Given the description of an element on the screen output the (x, y) to click on. 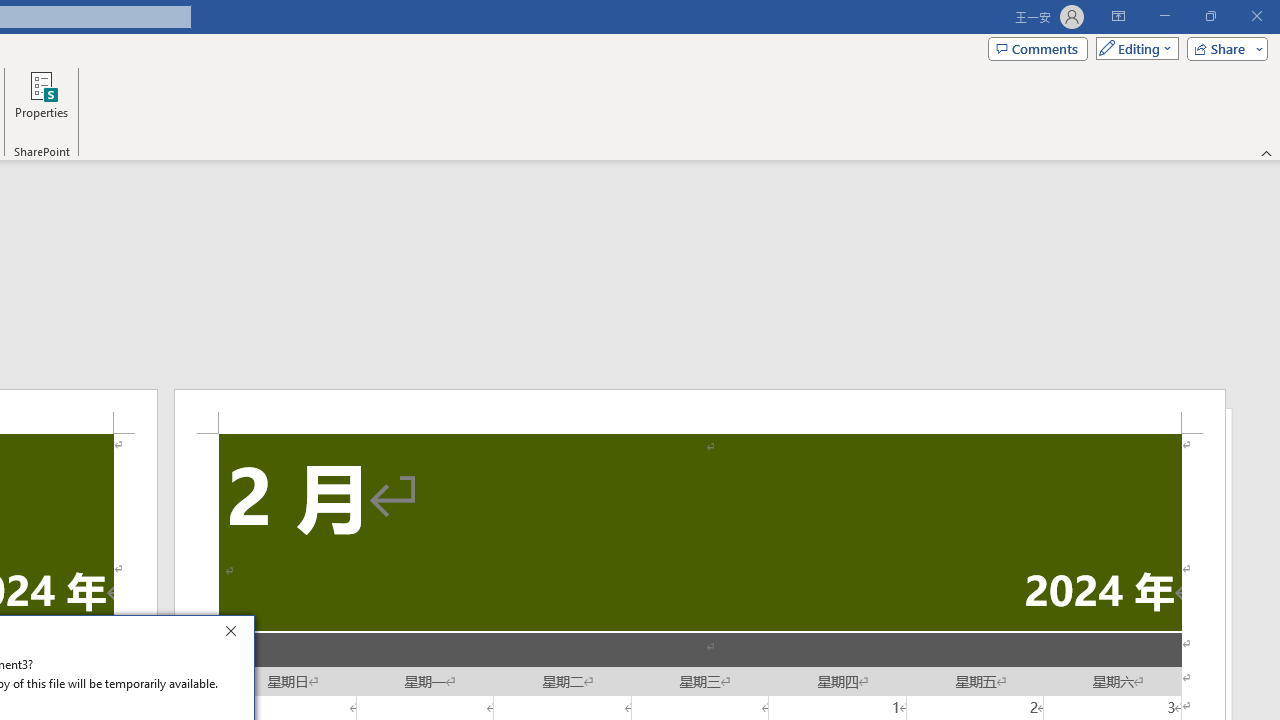
Mode (1133, 47)
Properties (41, 102)
Header -Section 2- (700, 411)
